Given the description of an element on the screen output the (x, y) to click on. 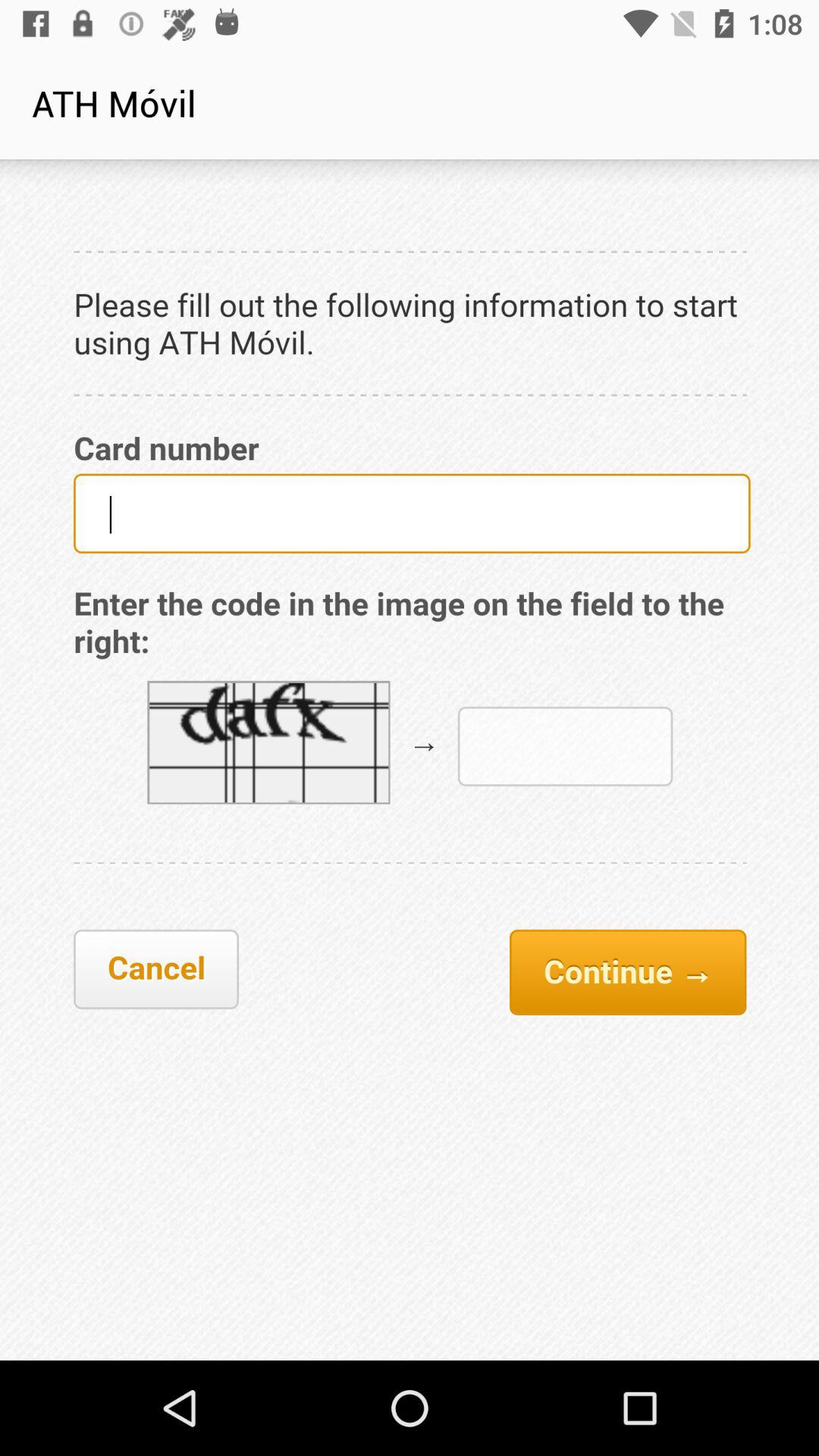
captcha icon (409, 759)
